Given the description of an element on the screen output the (x, y) to click on. 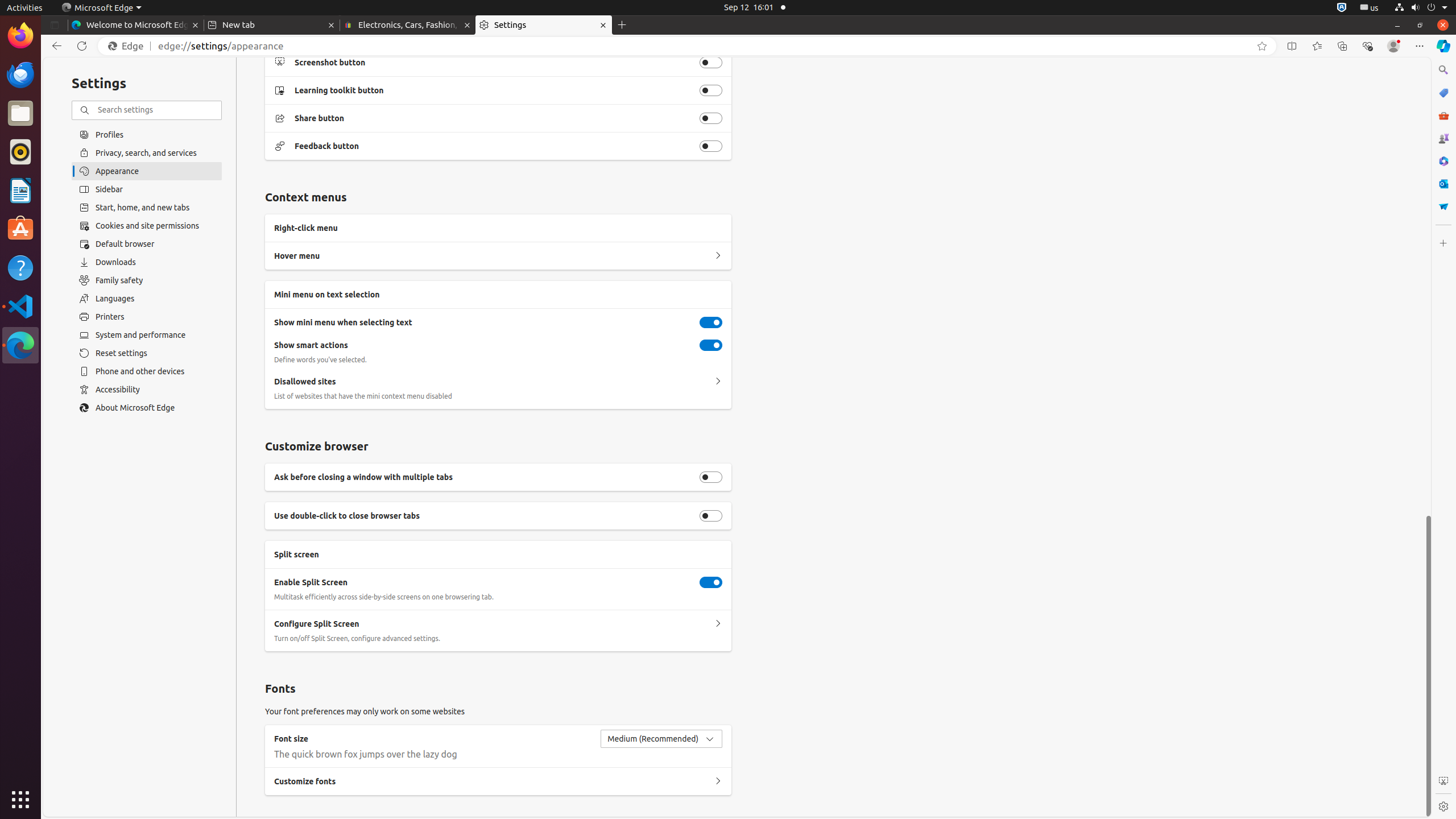
Disallowed sites Element type: push-button (717, 381)
Close tab Element type: push-button (195, 25)
Start, home, and new tabs Element type: tree-item (146, 207)
Files Element type: push-button (20, 113)
Feedback button Element type: check-box (710, 145)
